Given the description of an element on the screen output the (x, y) to click on. 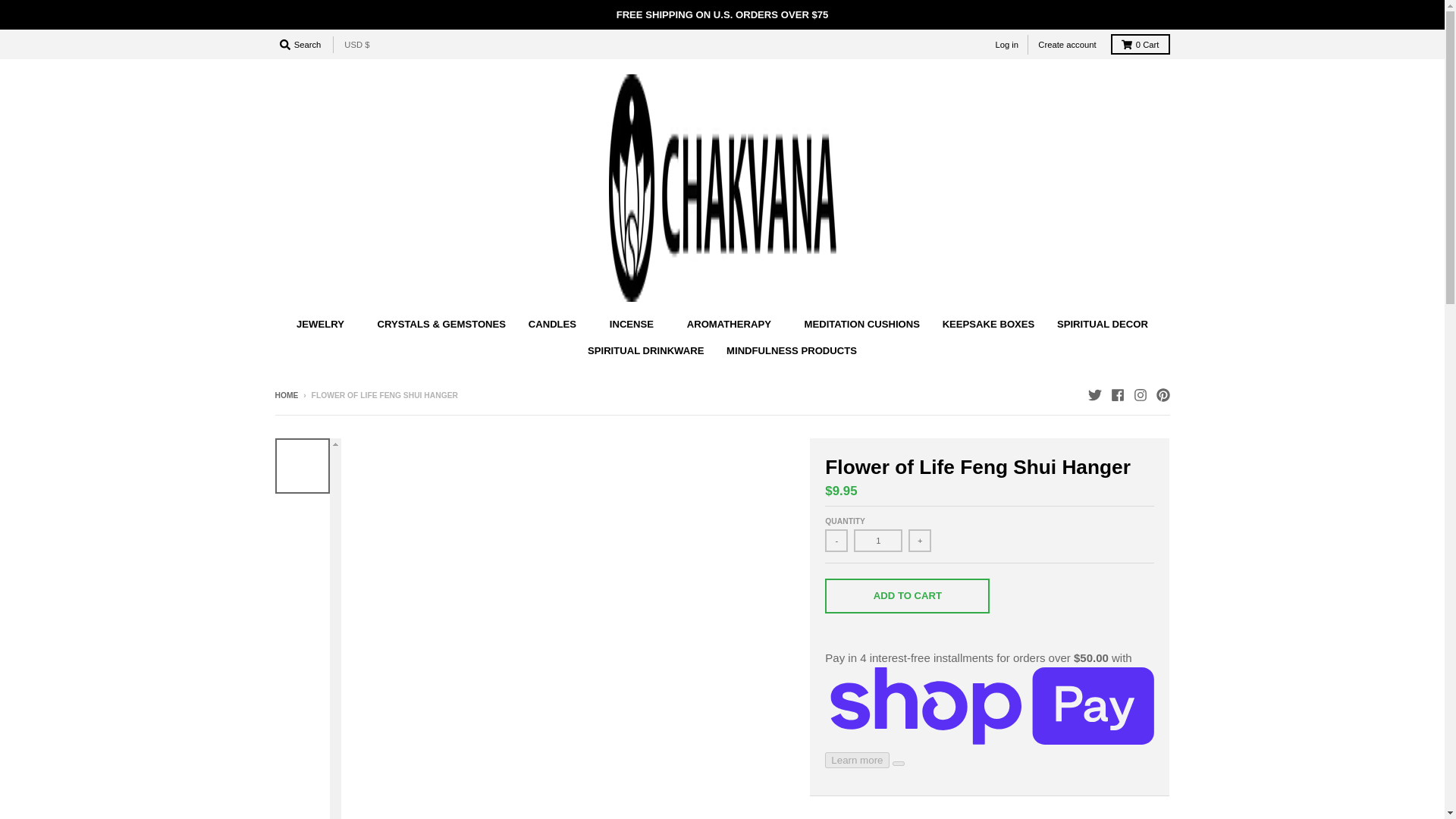
Facebook - CHAKVANA (1116, 395)
Pinterest - CHAKVANA (1162, 395)
Twitter - CHAKVANA (1093, 395)
1 (877, 540)
Search (299, 44)
Instagram - CHAKVANA (1139, 395)
Back to the frontpage (286, 395)
